Given the description of an element on the screen output the (x, y) to click on. 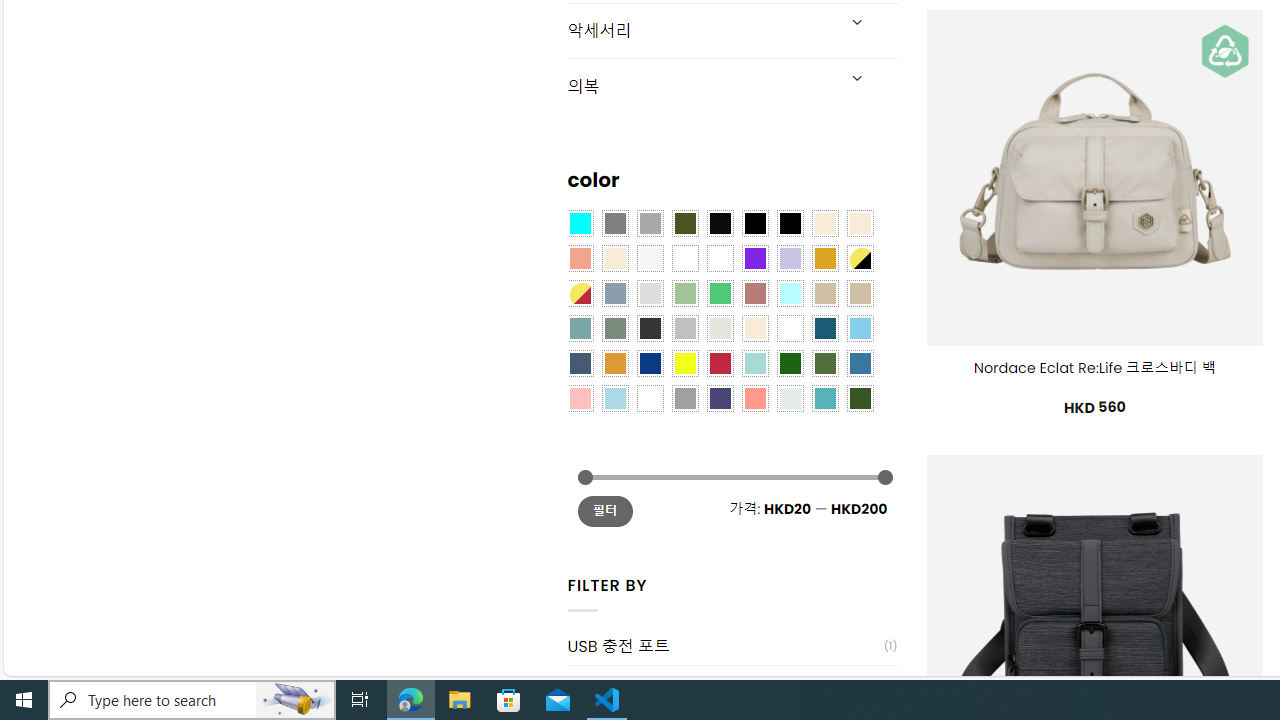
Kelp (719, 257)
